Given the description of an element on the screen output the (x, y) to click on. 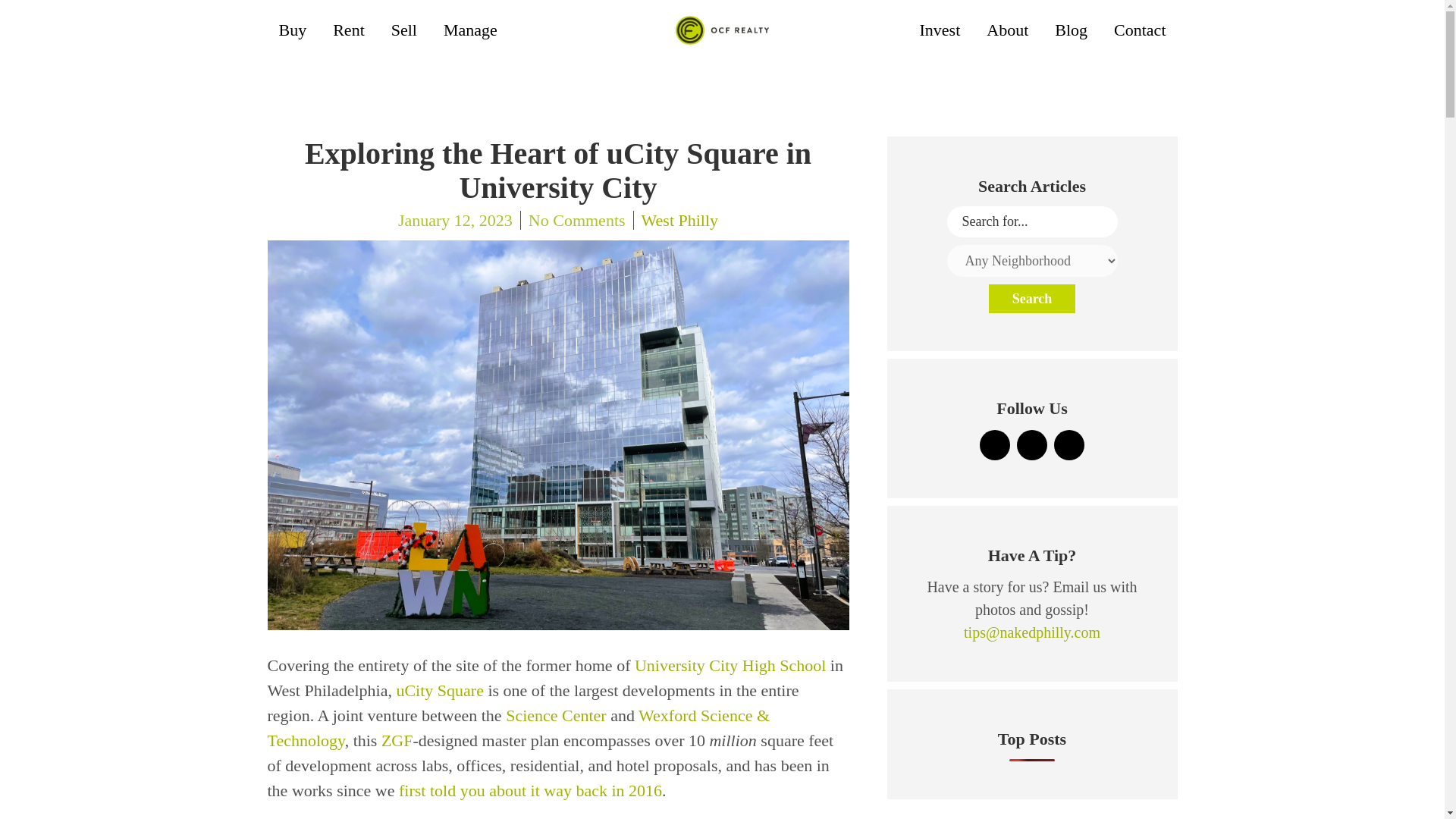
University City High School (729, 665)
uCity Square (439, 690)
About (1007, 30)
Blog (1071, 30)
No Comments (577, 220)
West Philly (676, 220)
Science Center (556, 714)
Search (1031, 298)
Rent (348, 30)
Search (1031, 298)
Invest (940, 30)
ZGF (397, 740)
first told you about it way back in 2016 (530, 790)
Manage (470, 30)
Contact (1139, 30)
